Given the description of an element on the screen output the (x, y) to click on. 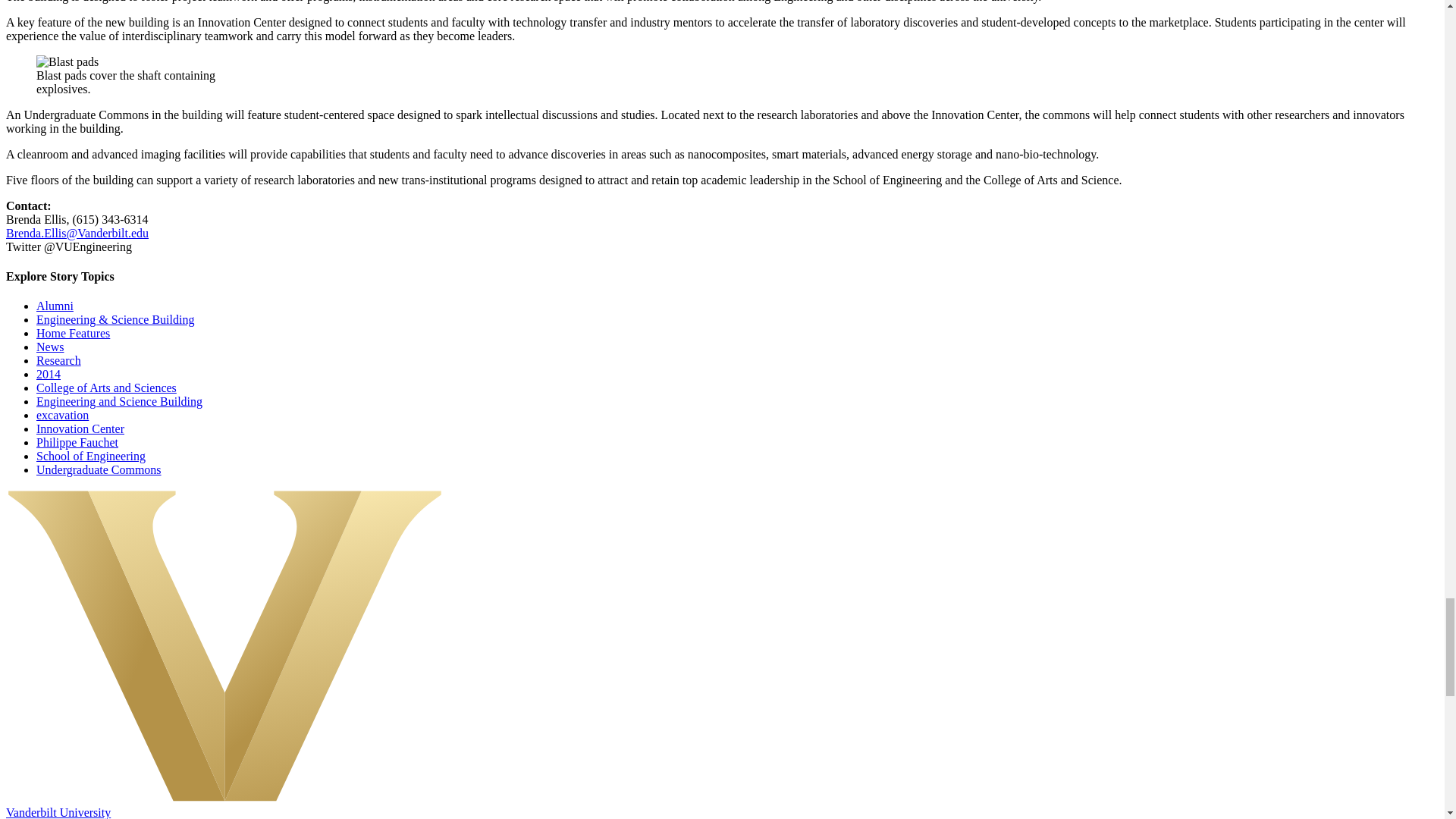
blastpads-091714 (67, 61)
